Given the description of an element on the screen output the (x, y) to click on. 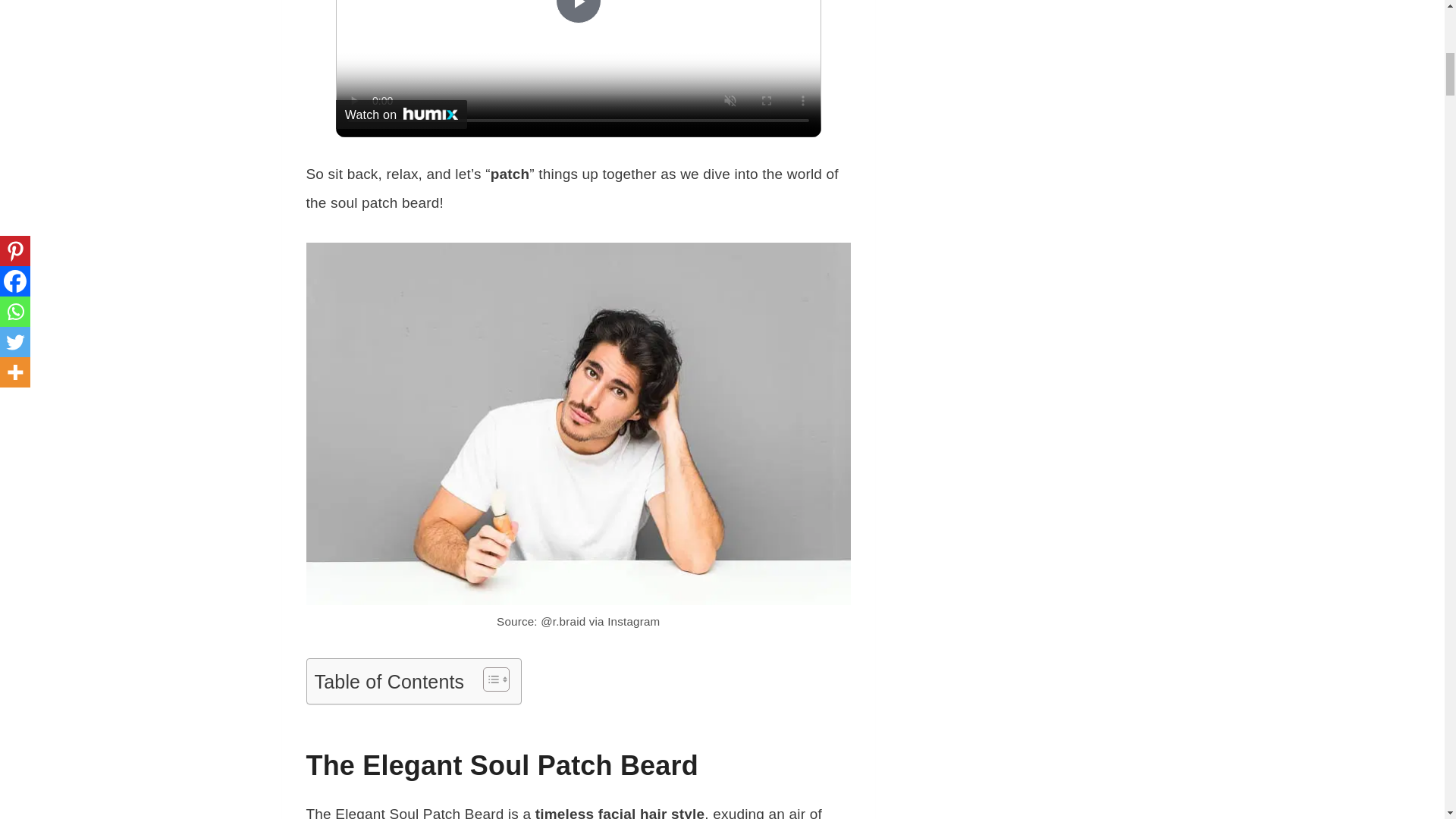
Watch on (401, 113)
Play Video (578, 11)
Play Video (578, 11)
